Given the description of an element on the screen output the (x, y) to click on. 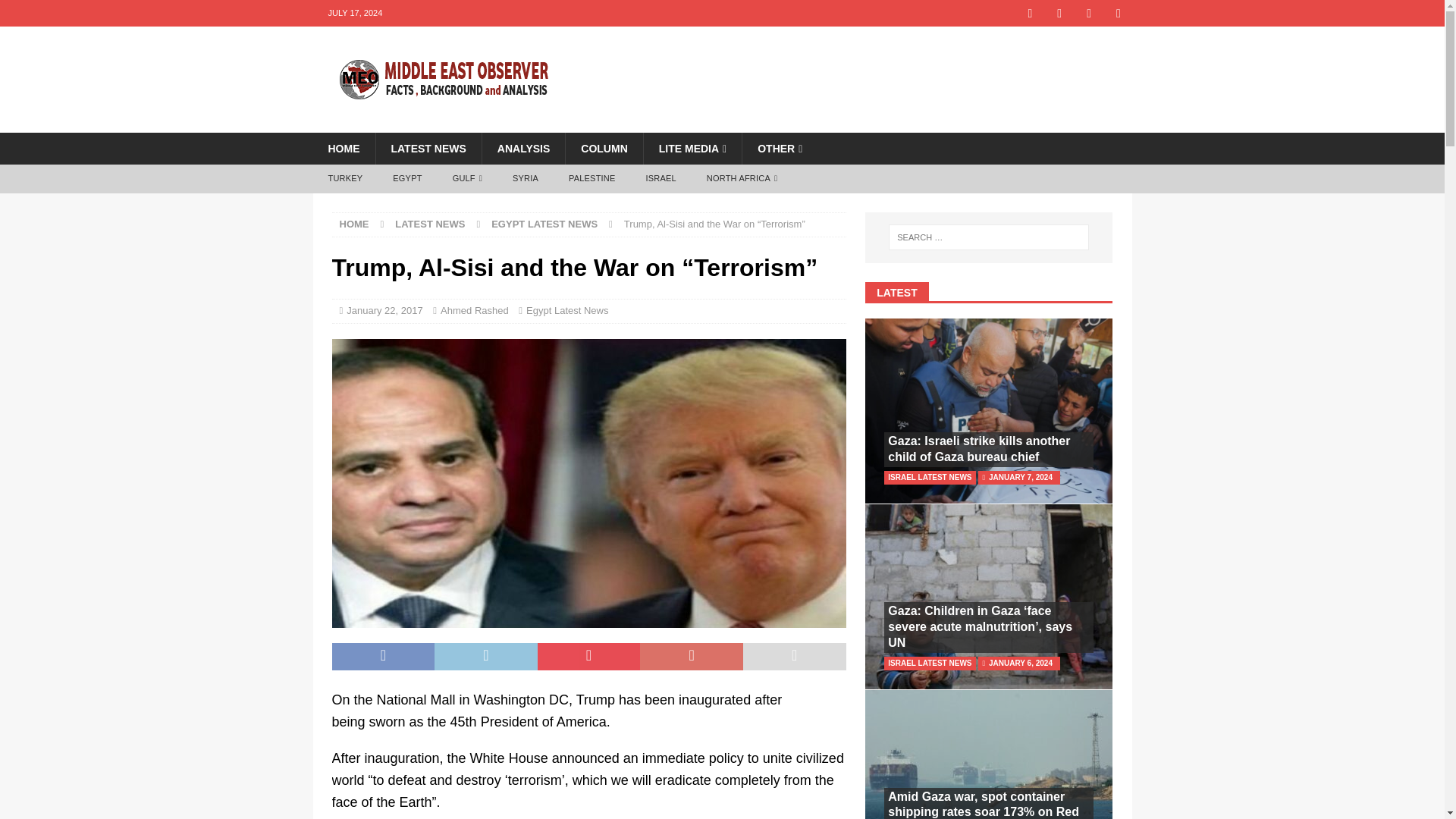
OTHER (778, 148)
EGYPT (406, 178)
LITE MEDIA (692, 148)
LATEST NEWS (427, 148)
HOME (343, 148)
TURKEY (345, 178)
ANALYSIS (523, 148)
COLUMN (603, 148)
GULF (467, 178)
